Given the description of an element on the screen output the (x, y) to click on. 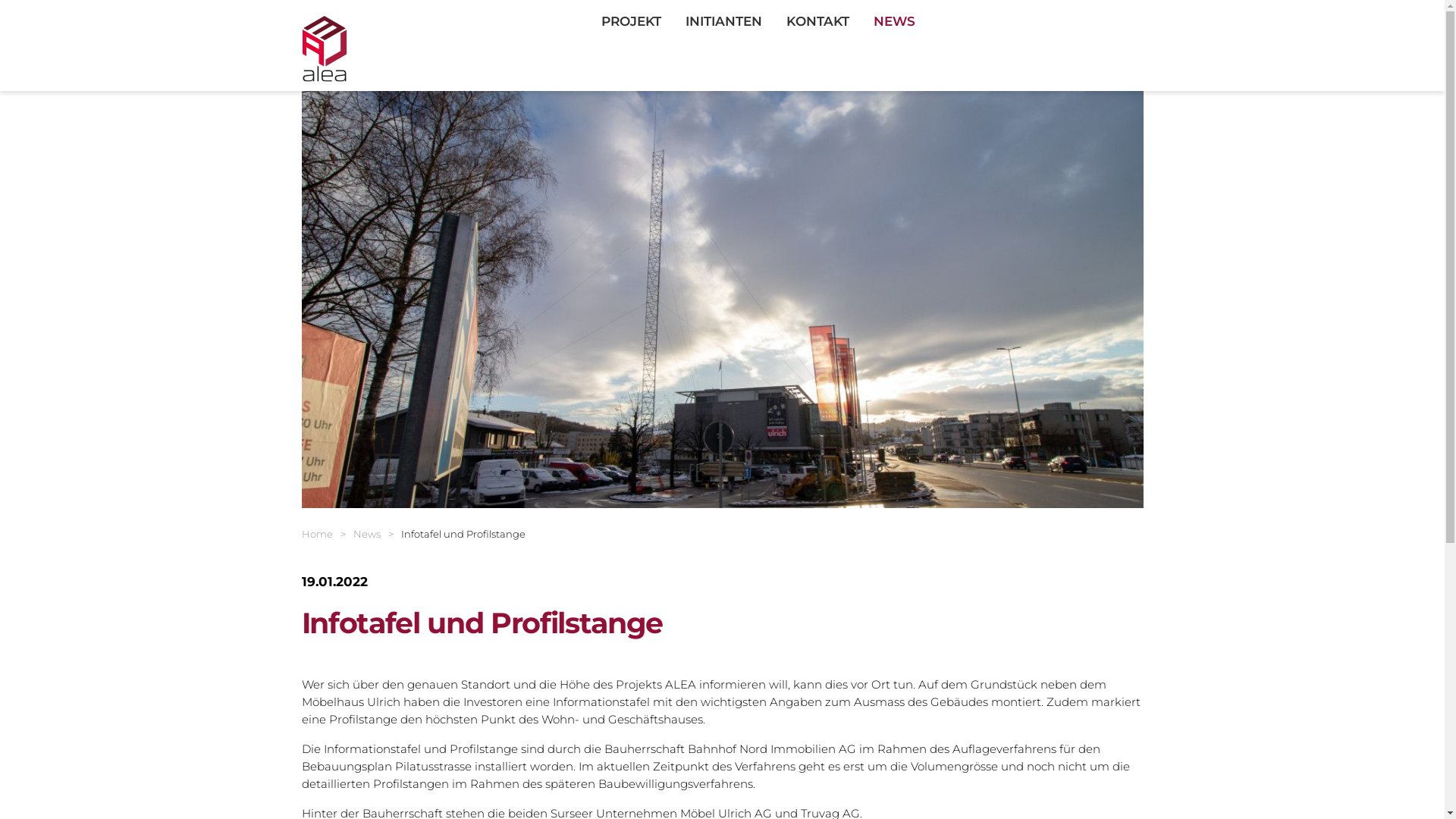
News Element type: text (366, 533)
Home Element type: text (316, 533)
INITIANTEN Element type: text (723, 21)
NEWS Element type: text (894, 21)
PROJEKT Element type: text (631, 21)
Zur Startseite Alea Sursee Element type: hover (324, 47)
KONTAKT Element type: text (817, 21)
